Given the description of an element on the screen output the (x, y) to click on. 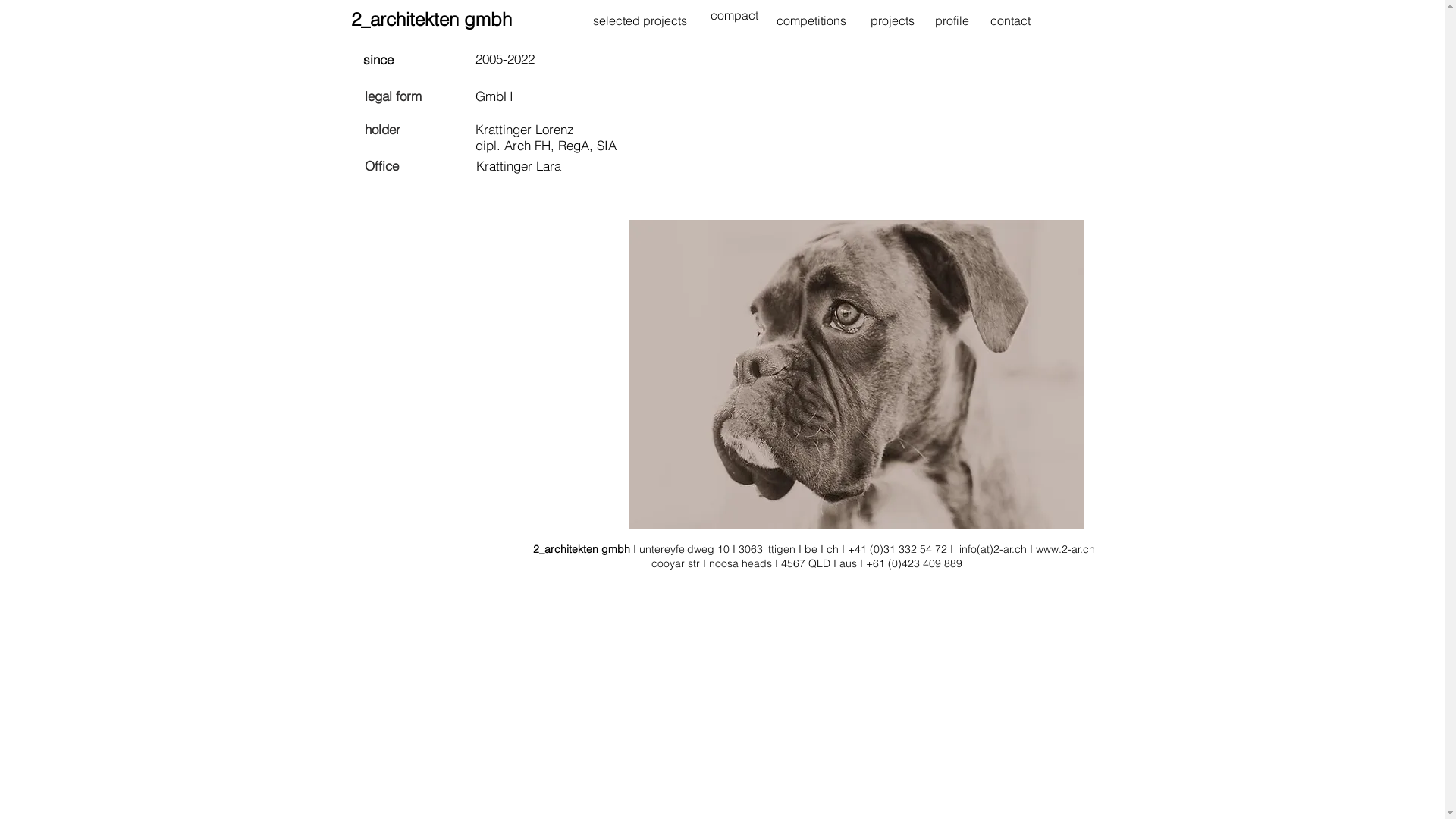
competitions Element type: text (811, 20)
contact Element type: text (1010, 20)
selected projects Element type: text (640, 20)
2_architekten gmbh Element type: text (430, 19)
projects Element type: text (892, 20)
www.2-ar.ch Element type: text (1065, 548)
profile Element type: text (951, 20)
compact Element type: text (733, 15)
